Given the description of an element on the screen output the (x, y) to click on. 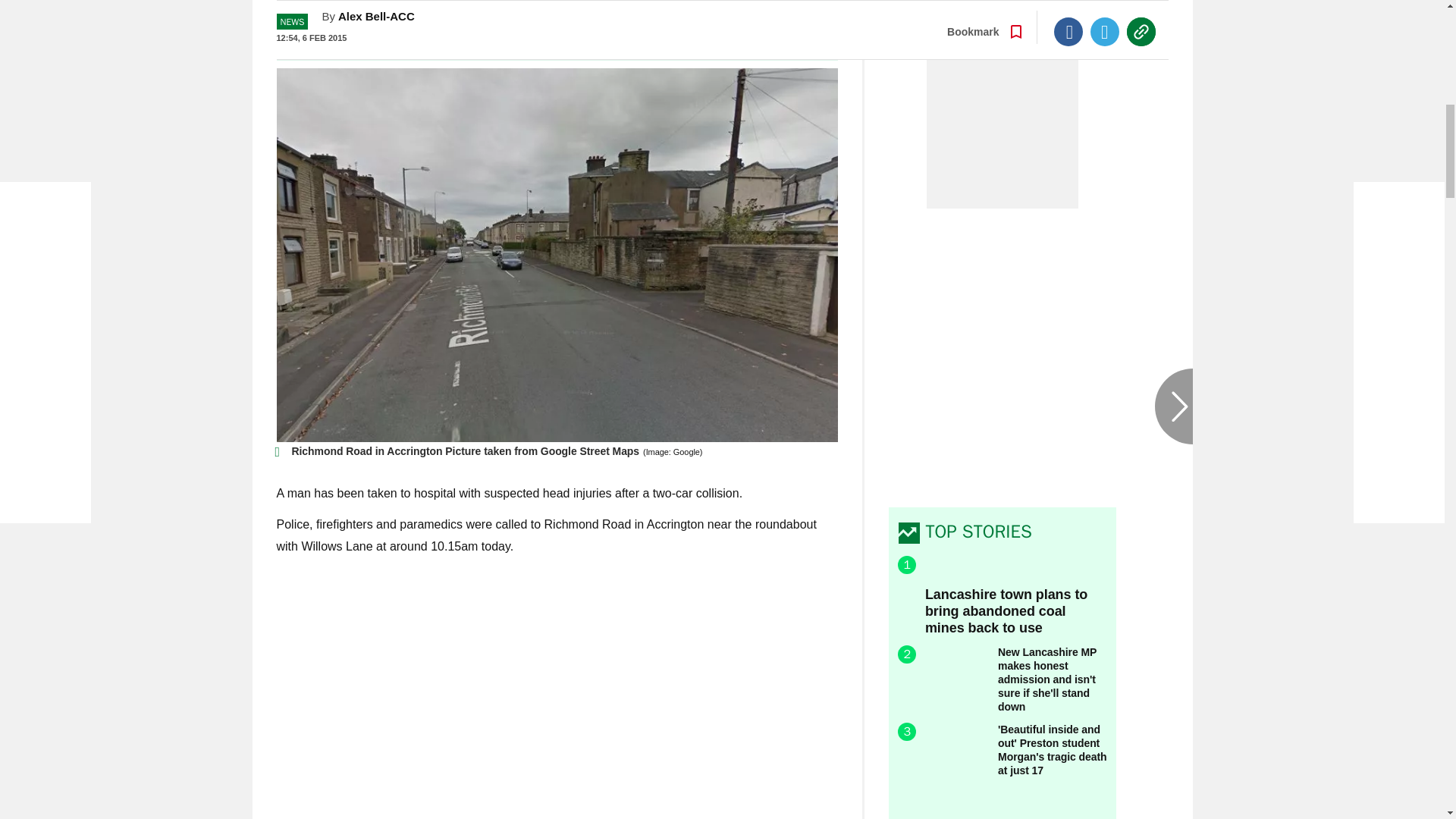
Go (730, 34)
